Given the description of an element on the screen output the (x, y) to click on. 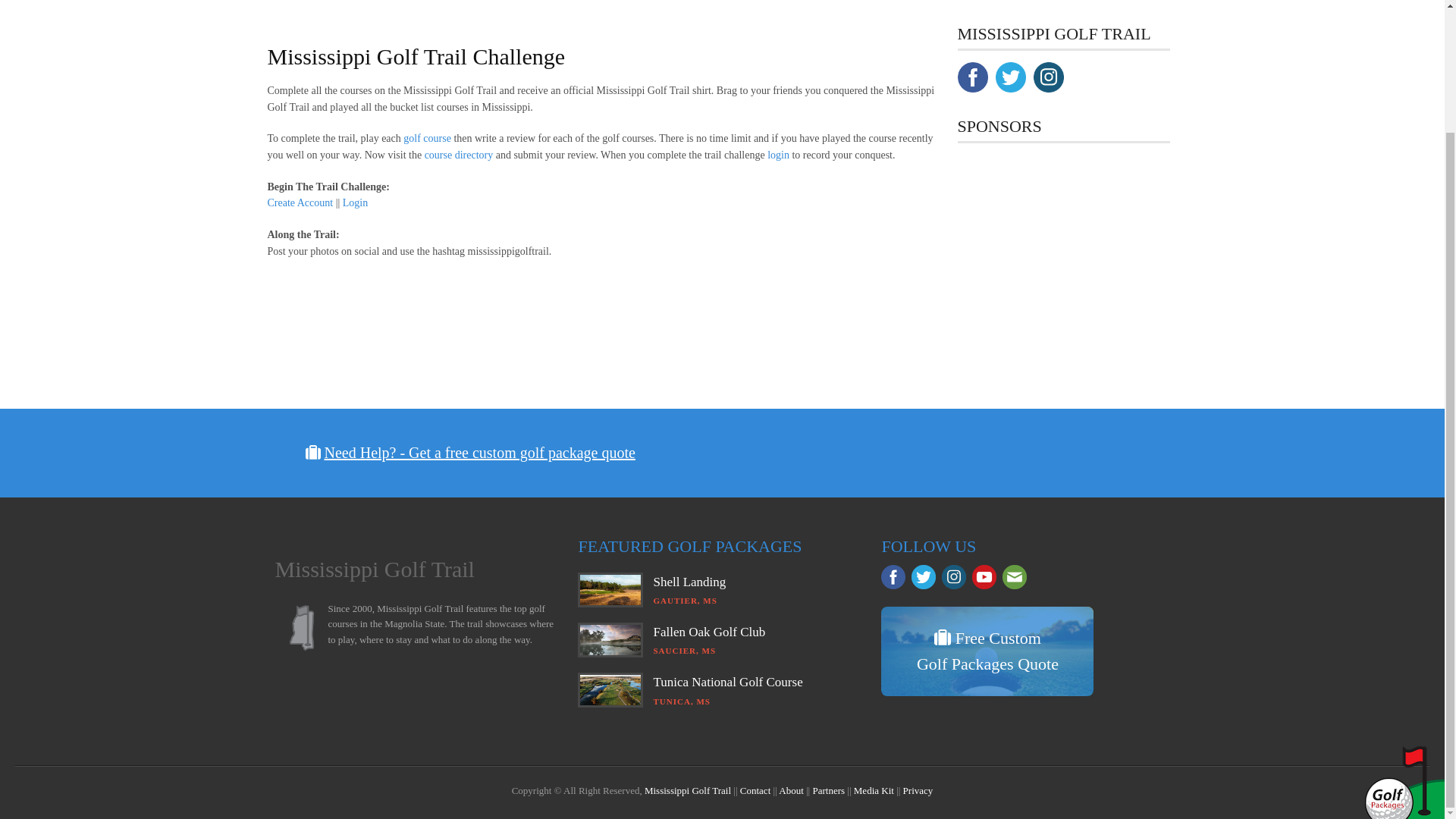
Create Account (299, 202)
Login (355, 202)
course directory (459, 154)
golf course (427, 138)
login (778, 154)
Need Help? - Get a free custom golf package quote (479, 452)
